Given the description of an element on the screen output the (x, y) to click on. 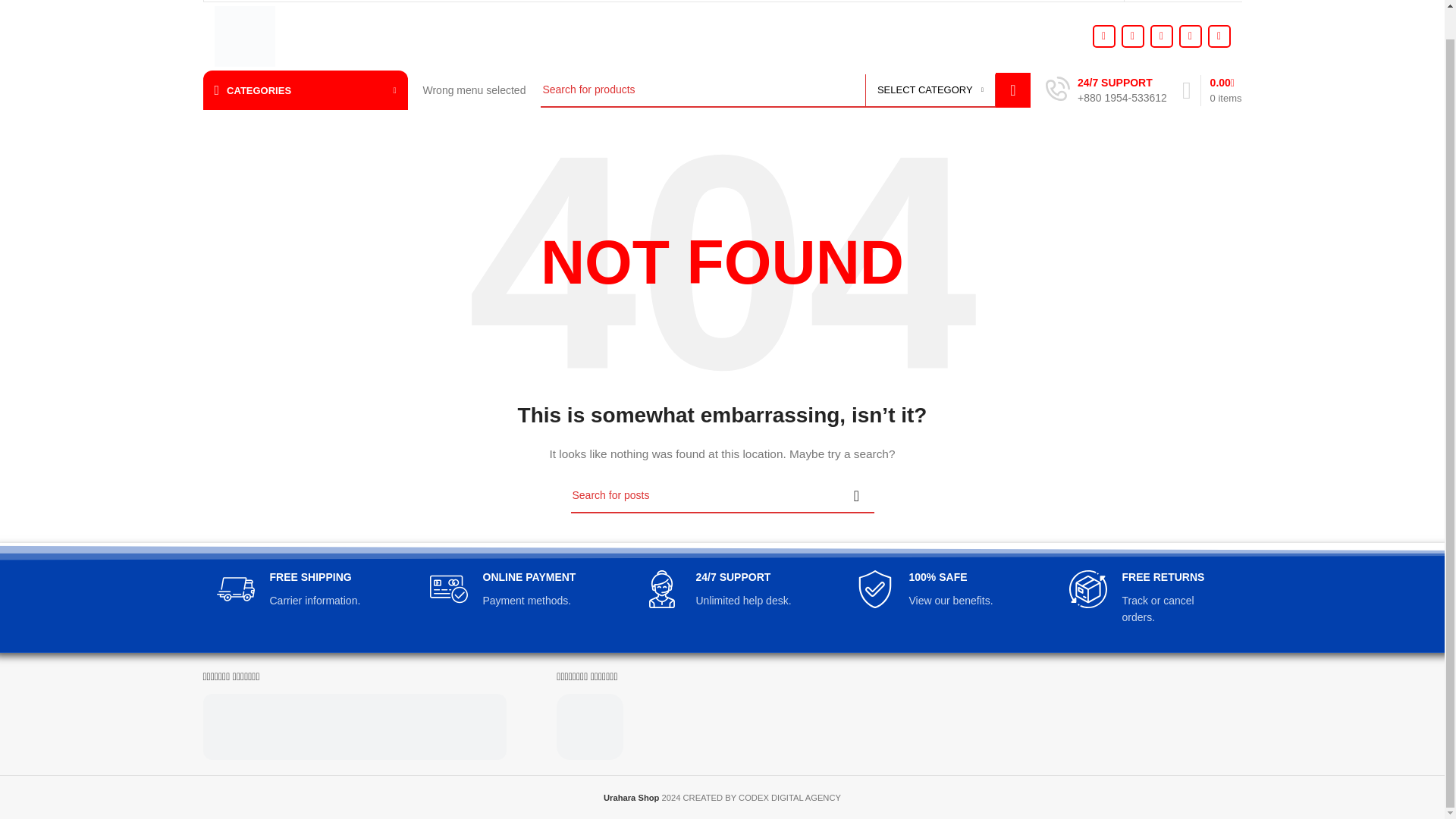
Search for products (785, 89)
SELECT CATEGORY (929, 90)
ENGLISH (1154, 0)
COUNTRY (1216, 0)
Search for posts (721, 495)
Shopping cart (1211, 90)
